Given the description of an element on the screen output the (x, y) to click on. 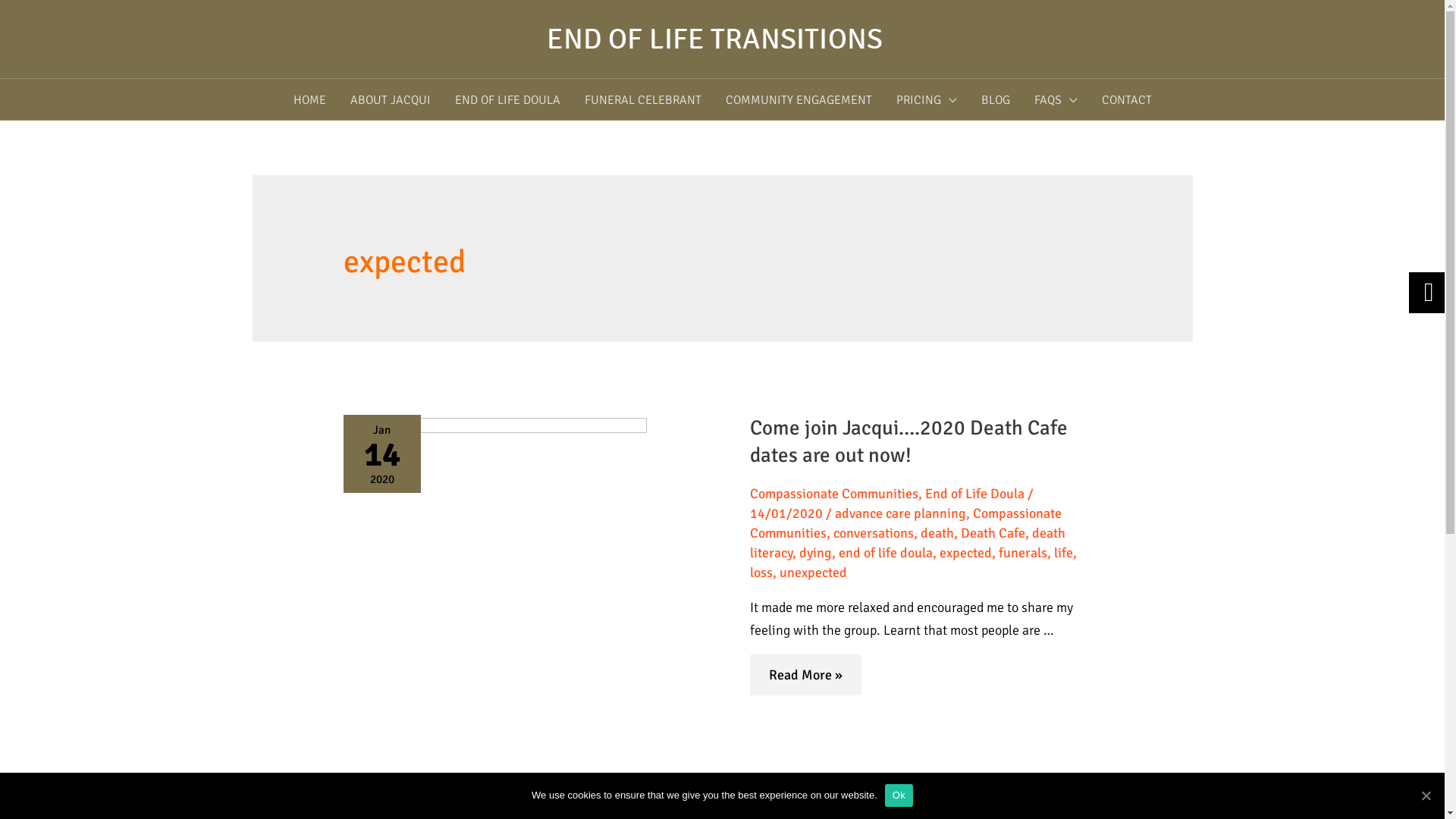
Death Cafe Element type: text (992, 532)
BLOG Element type: text (995, 99)
life Element type: text (1063, 552)
FAQS Element type: text (1055, 99)
loss Element type: text (760, 572)
expected Element type: text (964, 552)
CONTACT Element type: text (1125, 99)
HOME Element type: text (308, 99)
conversations Element type: text (872, 532)
funerals Element type: text (1021, 552)
COMMUNITY ENGAGEMENT Element type: text (797, 99)
death Element type: text (936, 532)
advance care planning Element type: text (899, 513)
dying Element type: text (815, 552)
PRICING Element type: text (926, 99)
ABOUT JACQUI Element type: text (390, 99)
death literacy Element type: text (906, 542)
FUNERAL CELEBRANT Element type: text (641, 99)
Ok Element type: text (898, 795)
Compassionate Communities Element type: text (904, 523)
unexpected Element type: text (813, 572)
END OF LIFE DOULA Element type: text (507, 99)
end of life doula Element type: text (885, 552)
End of Life Doula Element type: text (974, 493)
Compassionate Communities Element type: text (833, 493)
